Given the description of an element on the screen output the (x, y) to click on. 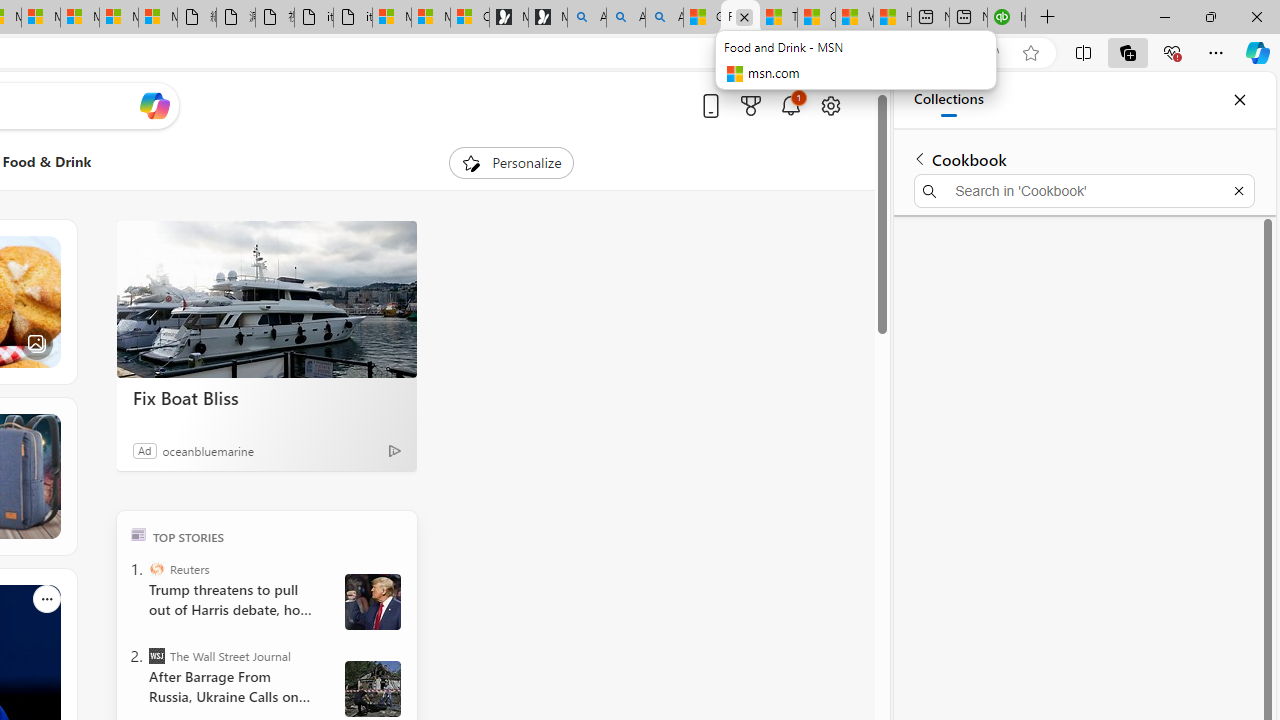
Alabama high school quarterback dies - Search Videos (664, 17)
oceanbluemarine (207, 450)
Back to list of collections (920, 158)
itconcepthk.com/projector_solutions.mp4 (353, 17)
Fix Boat Bliss (266, 397)
Food and Drink - MSN (740, 17)
Intuit QuickBooks Online - Quickbooks (1006, 17)
